Given the description of an element on the screen output the (x, y) to click on. 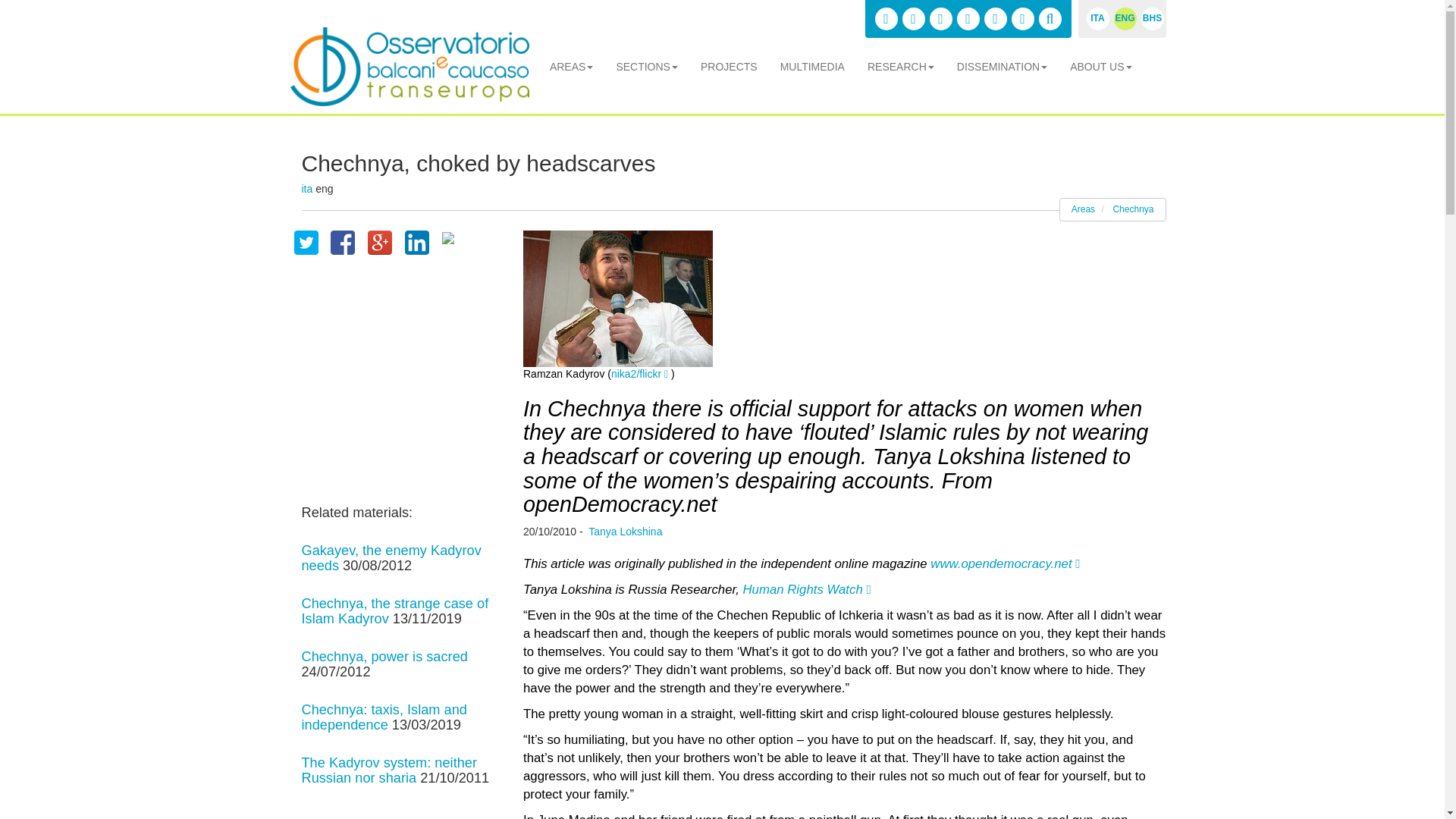
Link a Human Rights Watch (806, 589)
AREAS (571, 66)
Link a www.opendemocracy.net (1005, 563)
SECTIONS (647, 66)
Osservatorio Balcani e Caucaso Transeuropa (408, 66)
